Given the description of an element on the screen output the (x, y) to click on. 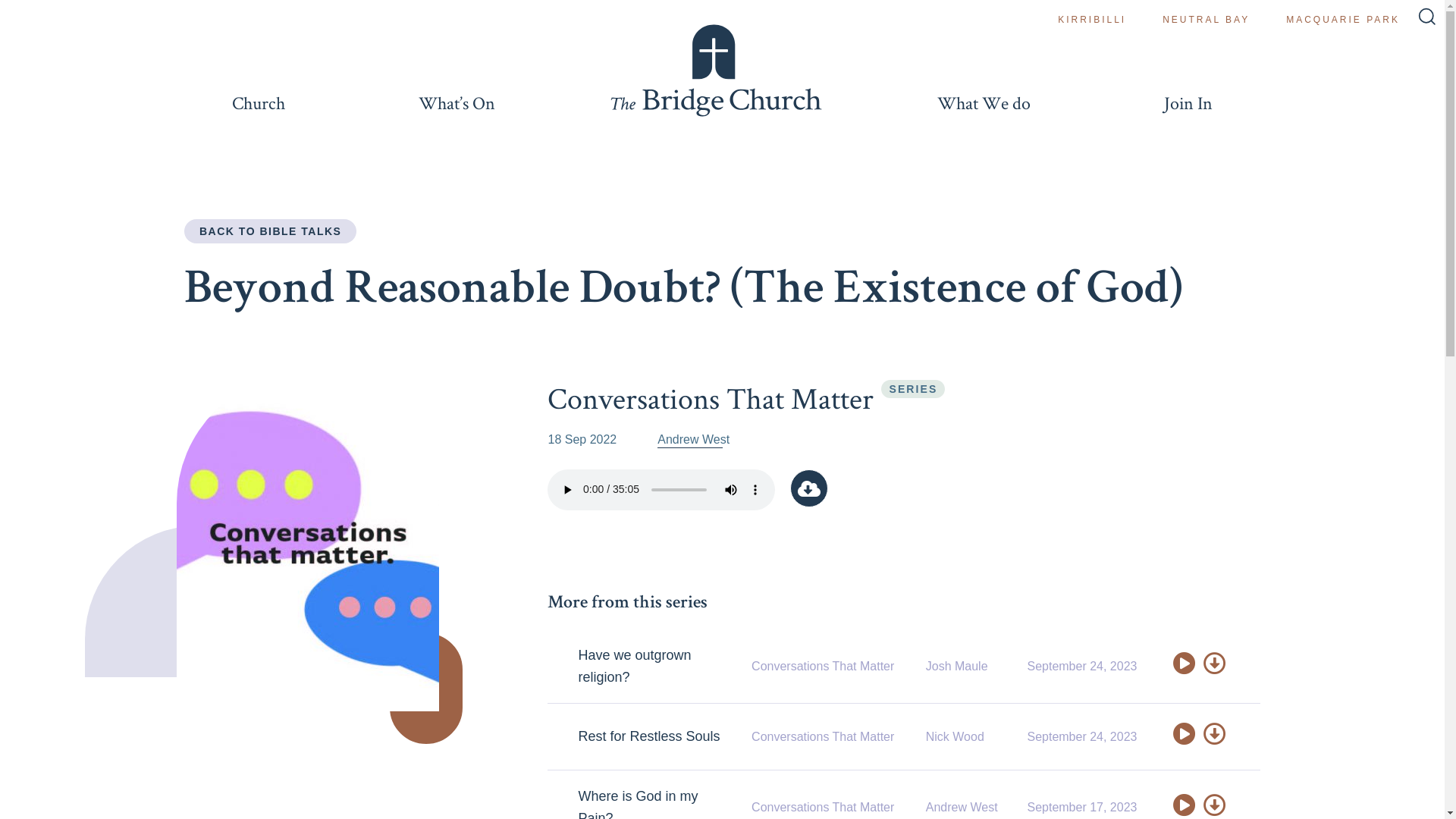
Have we outgrown religion? Element type: text (633, 665)
Conversations That Matter Element type: text (822, 806)
Nick Wood Element type: text (954, 736)
Conversations That Matter Element type: text (710, 397)
KIRRIBILLI Element type: text (1091, 19)
BACK TO BIBLE TALKS Element type: text (269, 231)
Join In Element type: text (1188, 102)
Rest for Restless Souls Element type: text (648, 735)
Conversations That Matter Element type: text (822, 665)
Andrew West Element type: text (693, 439)
NEUTRAL BAY Element type: text (1205, 19)
Conversations That Matter Element type: text (822, 736)
Andrew West Element type: text (961, 806)
What We do Element type: text (983, 102)
MACQUARIE PARK Element type: text (1342, 19)
Church Element type: text (257, 102)
Josh Maule Element type: text (956, 665)
